Given the description of an element on the screen output the (x, y) to click on. 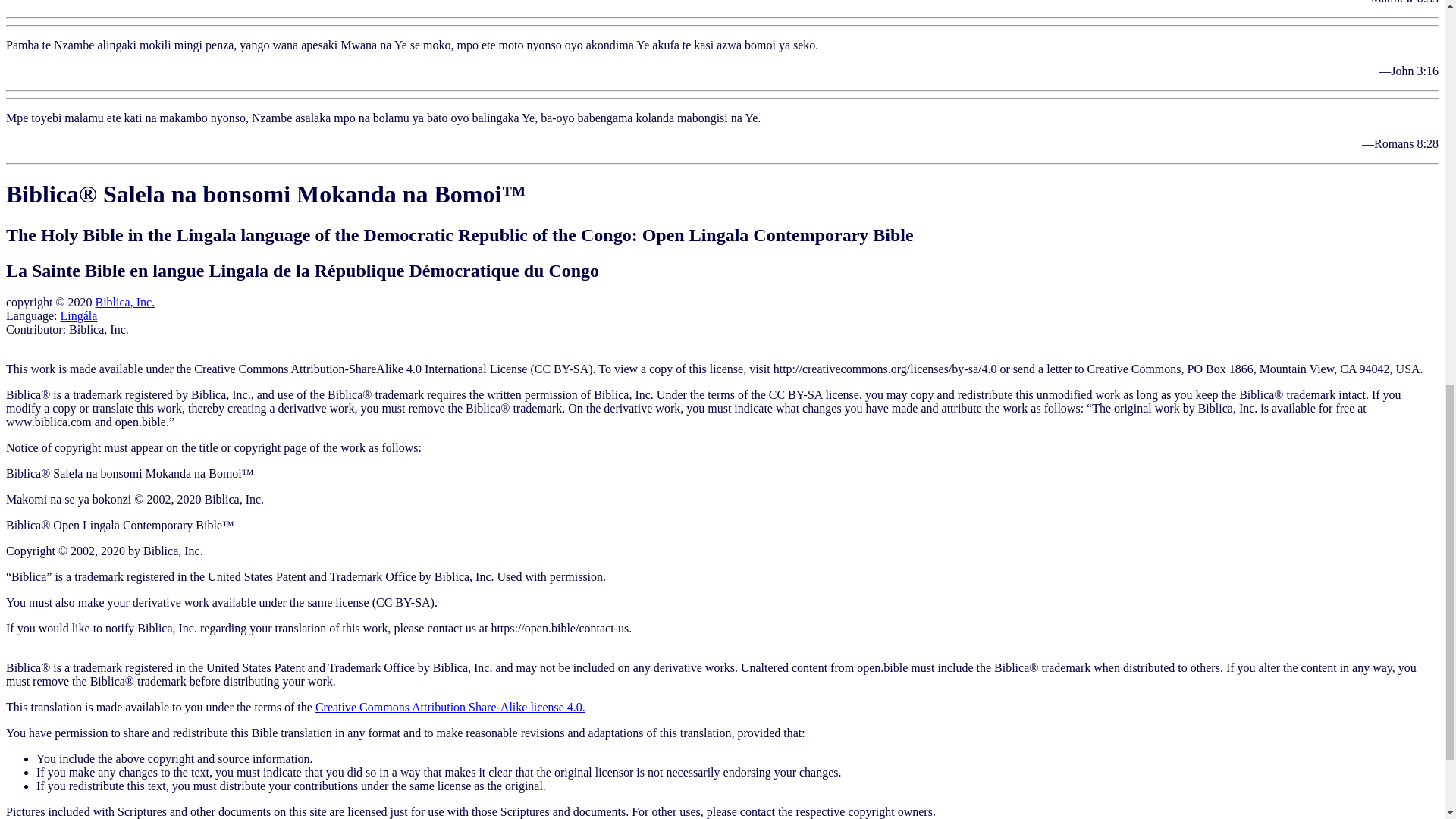
Creative Commons Attribution Share-Alike license 4.0. (450, 707)
Biblica, Inc. (124, 301)
